Given the description of an element on the screen output the (x, y) to click on. 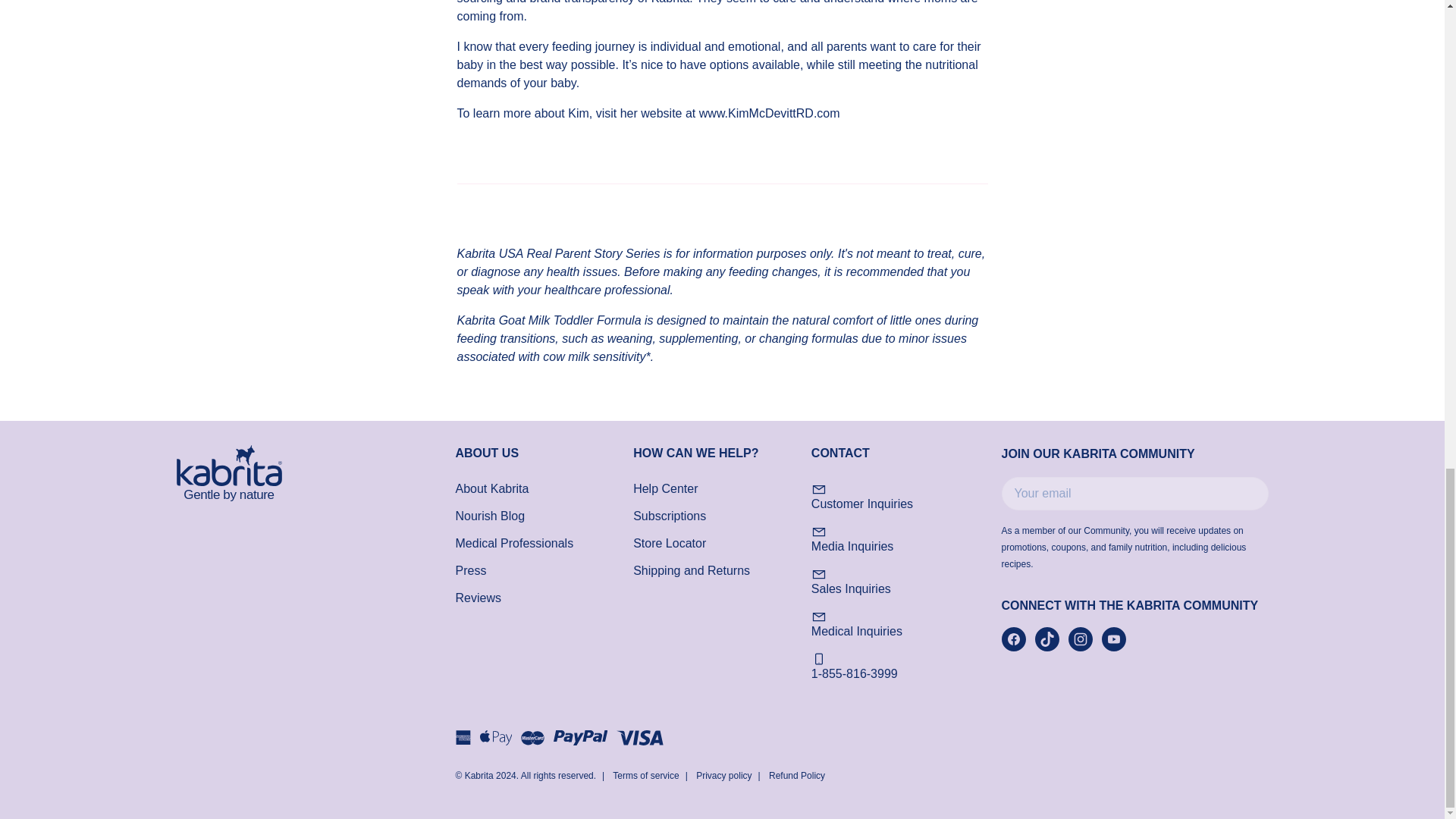
Kabrita USA on Facebook (1013, 639)
Kabrita USA on Instagram (1079, 639)
Kabrita USA on YouTube (1112, 639)
Kabrita USA on TikTok (1045, 639)
